Given the description of an element on the screen output the (x, y) to click on. 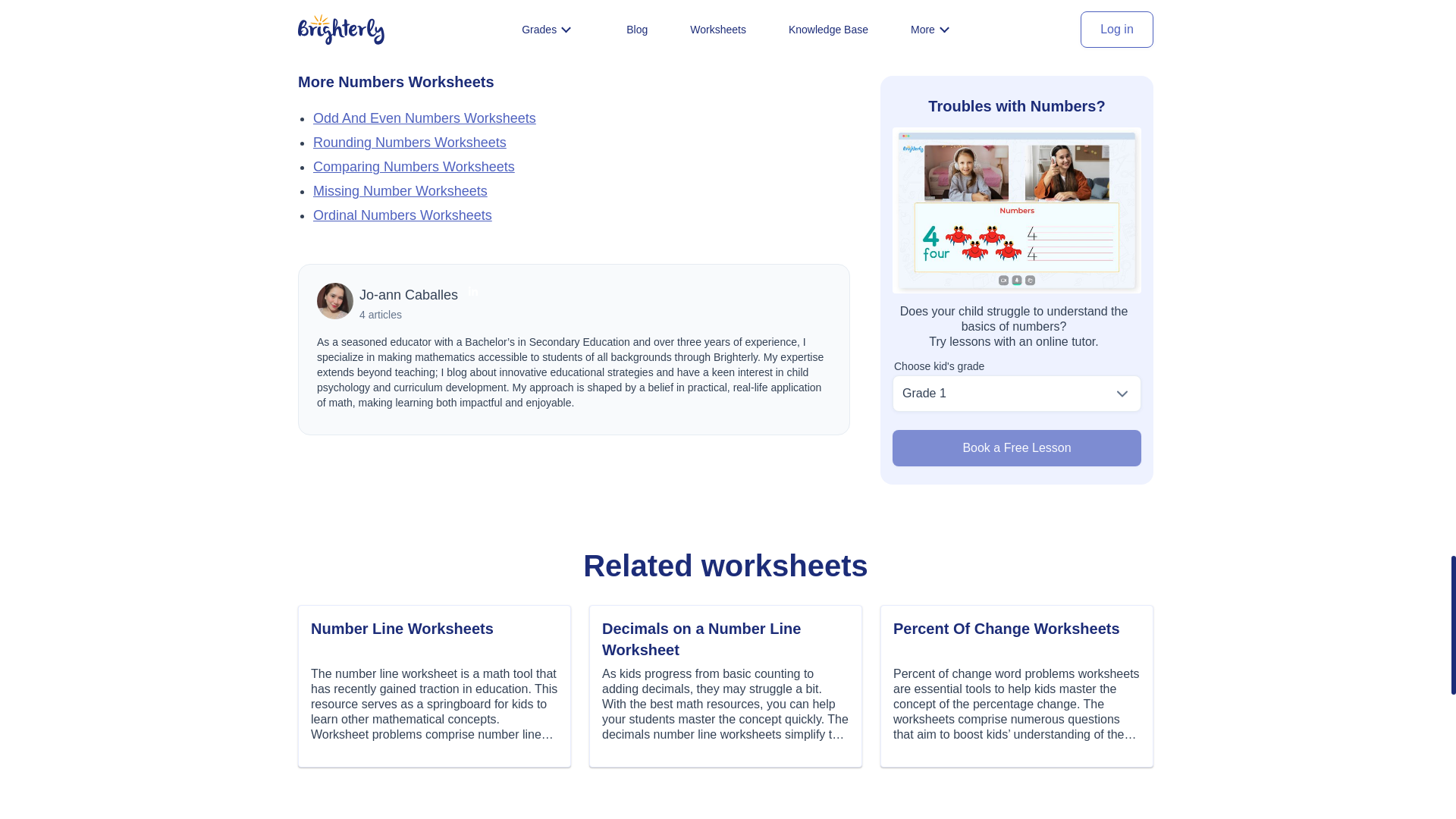
Odd And Even Numbers Worksheets (424, 118)
Rounding Numbers Worksheets (409, 142)
